Given the description of an element on the screen output the (x, y) to click on. 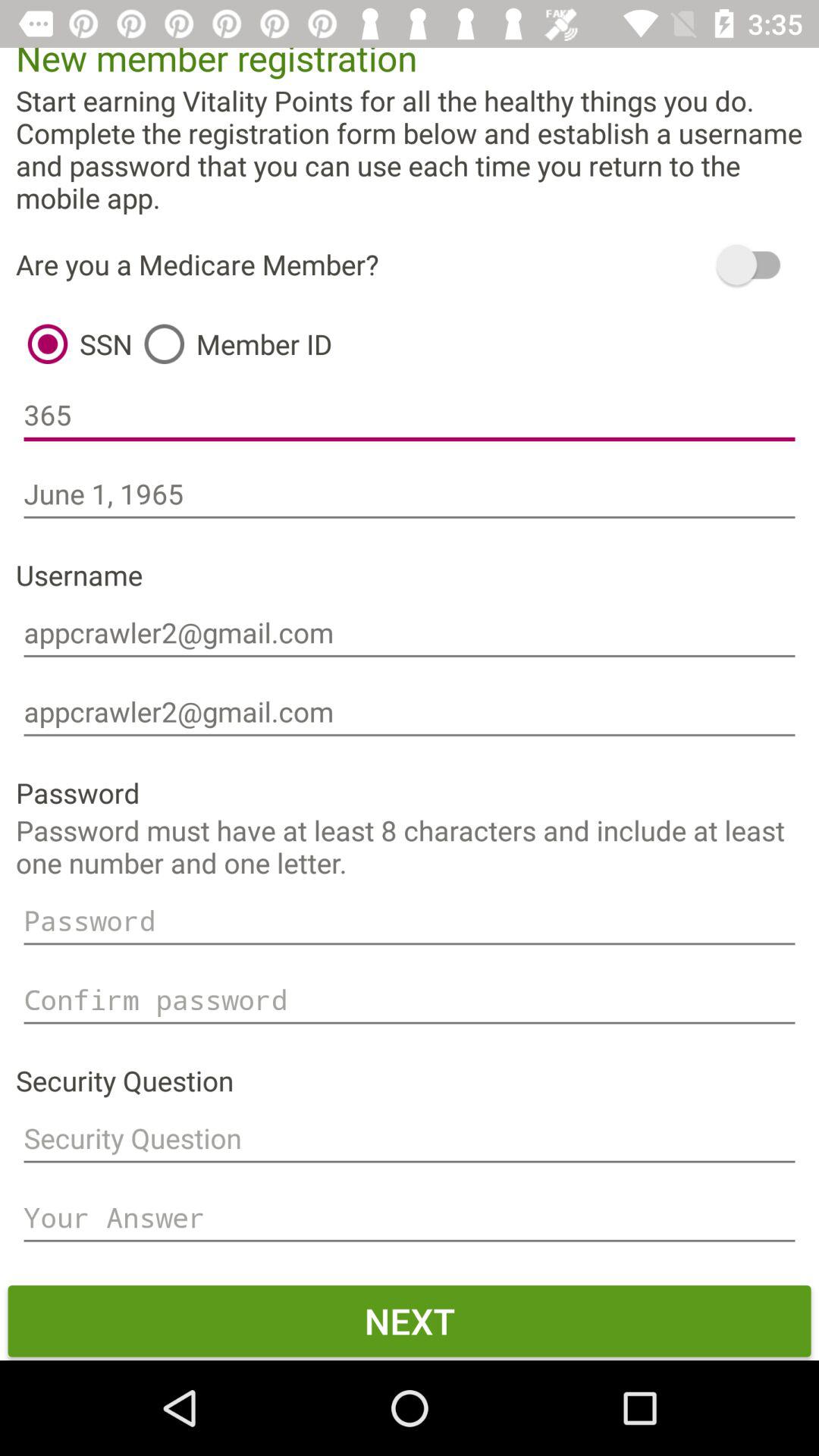
write the security question (409, 1138)
